Given the description of an element on the screen output the (x, y) to click on. 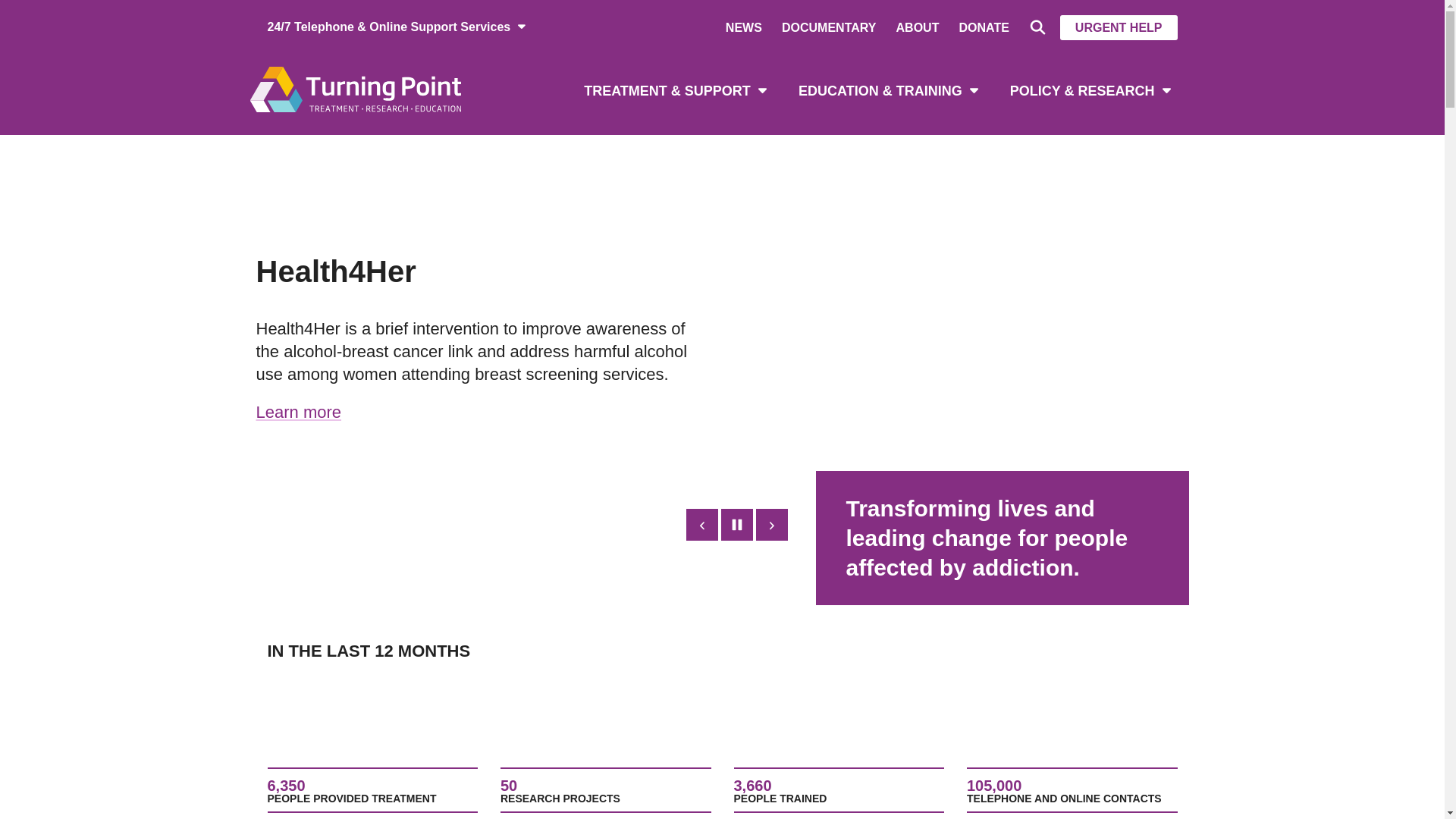
URGENT HELP Element type: text (1118, 27)
DONATE Element type: text (984, 27)
TREATMENT & SUPPORT Element type: text (674, 89)
EDUCATION & TRAINING Element type: text (887, 89)
ABOUT Element type: text (917, 27)
DOCUMENTARY Element type: text (828, 27)
Search Element type: hover (1036, 27)
Home Element type: hover (354, 87)
  Element type: text (736, 524)
Skip to main content Element type: text (0, 0)
POLICY & RESEARCH Element type: text (1090, 89)
NEWS Element type: text (743, 27)
Learn more Element type: text (299, 411)
